Given the description of an element on the screen output the (x, y) to click on. 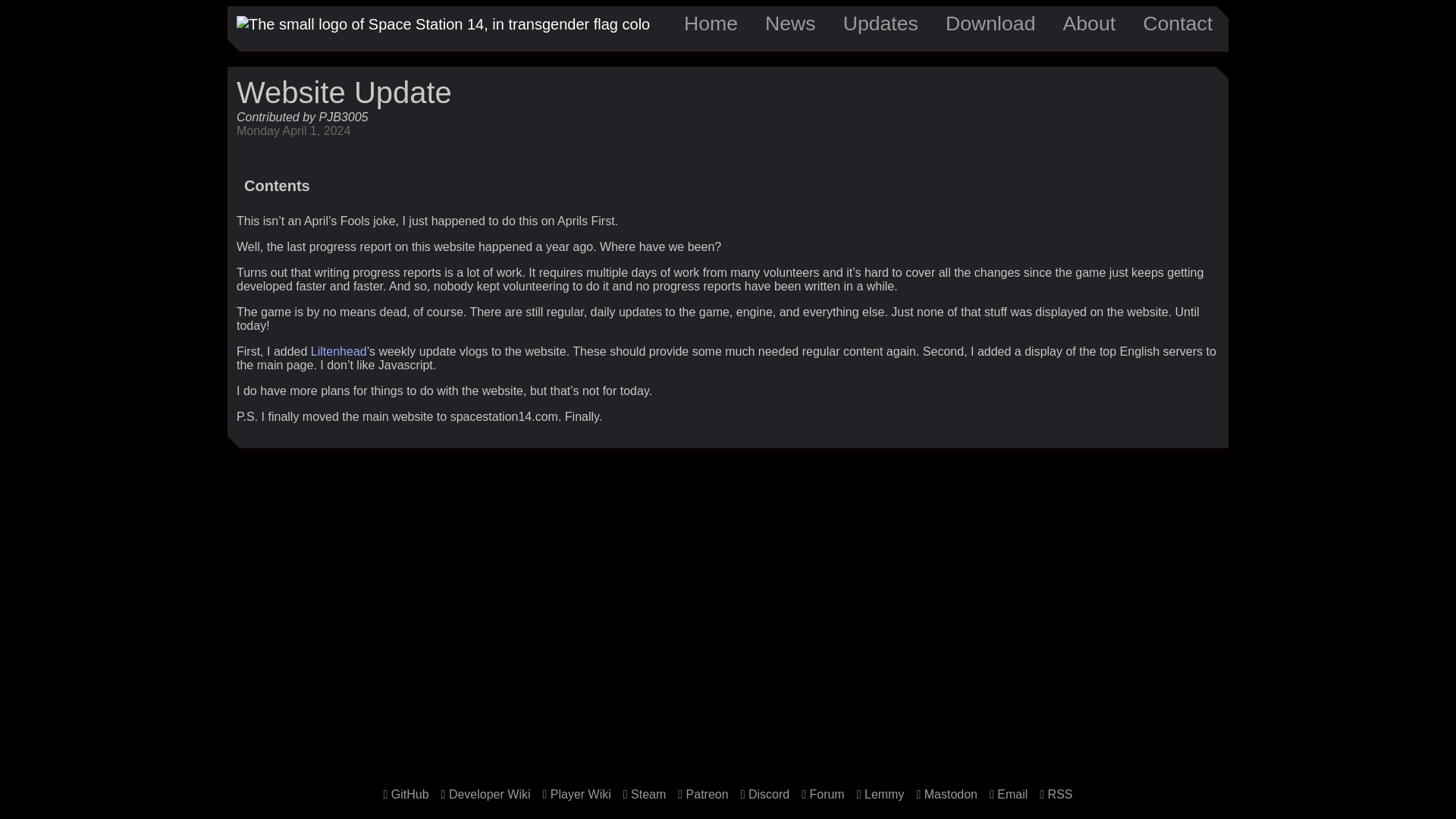
About (1089, 23)
Developer Wiki (486, 793)
Discord (765, 793)
GitHub (406, 793)
Updates (880, 23)
GitHub (406, 793)
Patreon (703, 793)
Player Wiki (575, 793)
RSS (1055, 793)
News (790, 23)
